Given the description of an element on the screen output the (x, y) to click on. 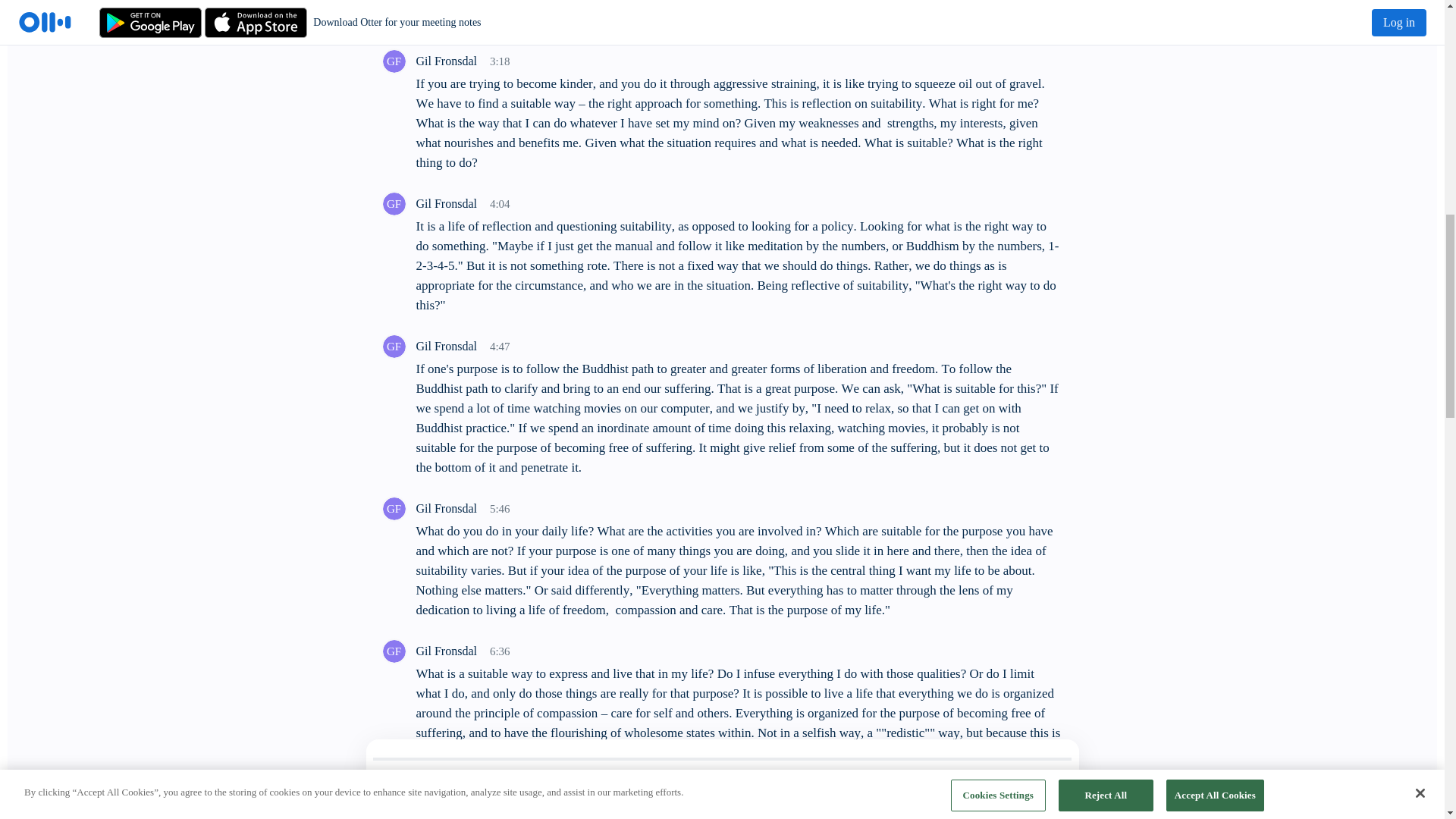
GF (393, 508)
Gil Fronsdal (392, 203)
Gil Fronsdal (392, 345)
GF (393, 346)
Gil Fronsdal (392, 650)
Gil Fronsdal (392, 508)
GF (393, 203)
Gil Fronsdal (392, 60)
GF (393, 651)
GF (393, 61)
GF (393, 793)
Gil Fronsdal (392, 793)
